Given the description of an element on the screen output the (x, y) to click on. 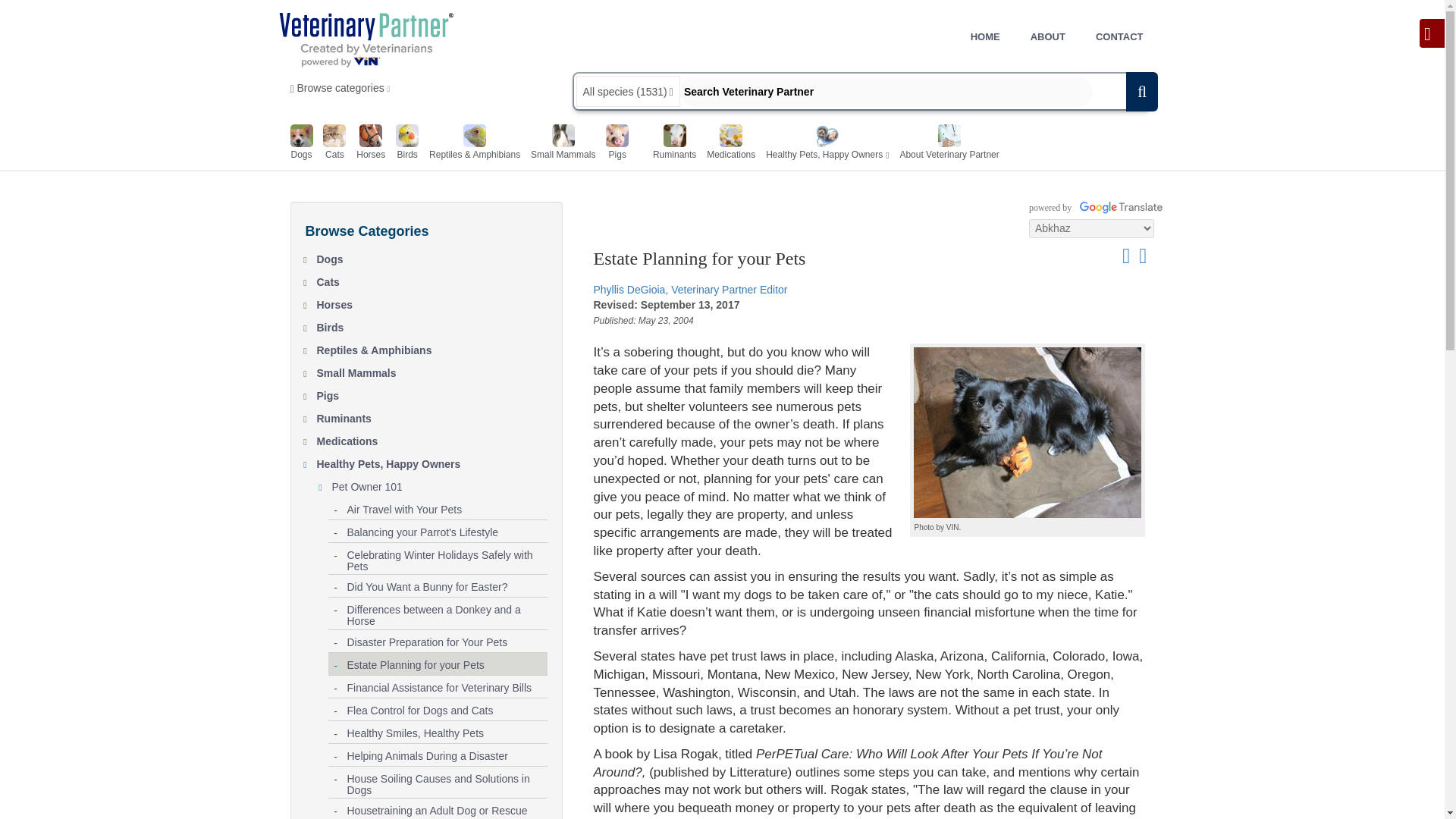
dog on couch  (1027, 432)
Ruminants (673, 144)
Ruminants (432, 415)
About Veterinary Partner (948, 144)
Horses (432, 301)
Small Mammals (563, 144)
Healthy Pets, Happy Owners (823, 144)
Cats (432, 279)
Dogs (432, 256)
Pigs (432, 393)
